Given the description of an element on the screen output the (x, y) to click on. 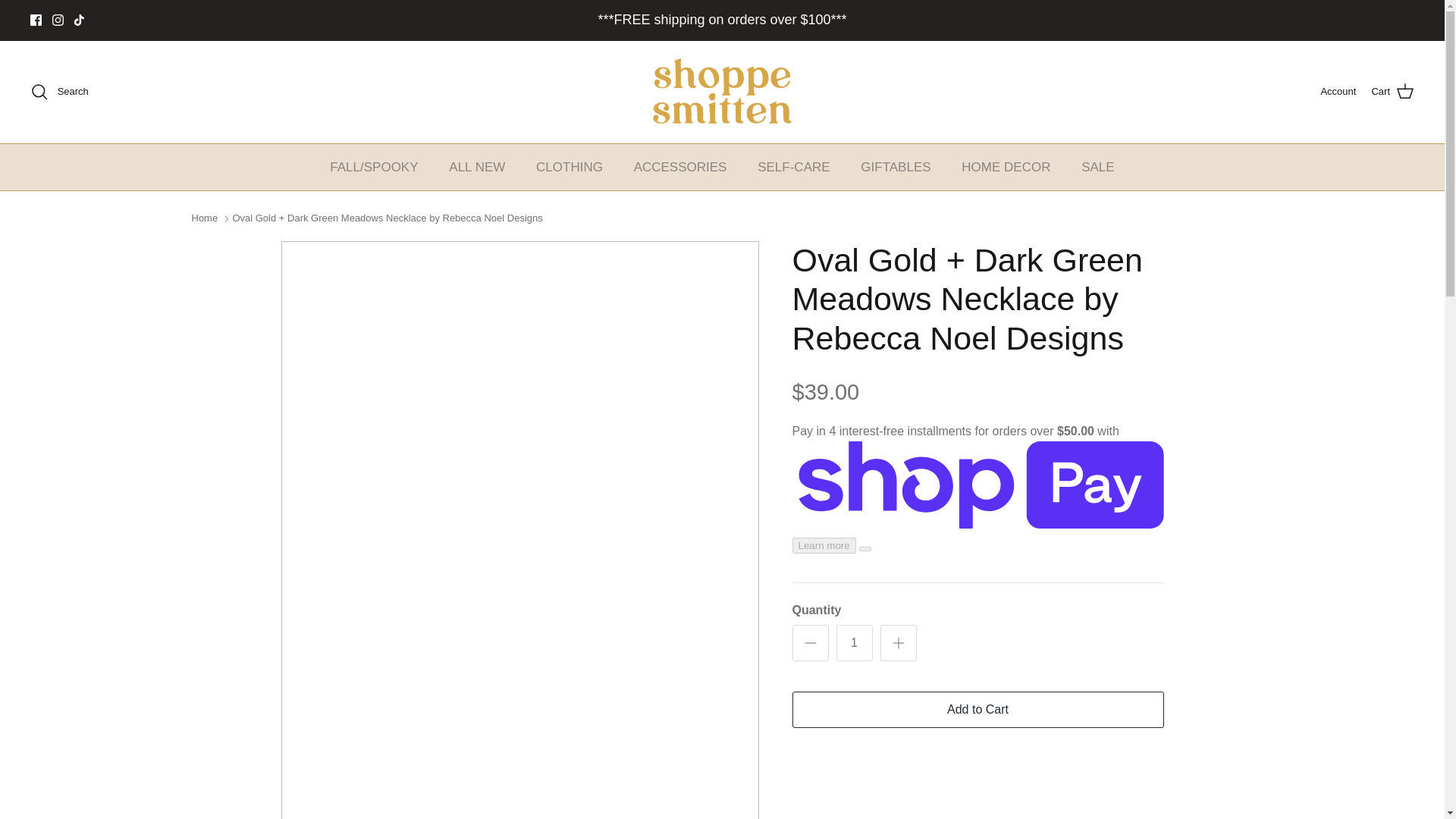
Search (59, 91)
Instagram (58, 19)
ALL NEW (476, 167)
Cart (1392, 91)
Instagram (58, 19)
Minus (809, 642)
1 (853, 642)
Account (1337, 91)
shoppe smitten (721, 91)
Facebook (36, 19)
